Given the description of an element on the screen output the (x, y) to click on. 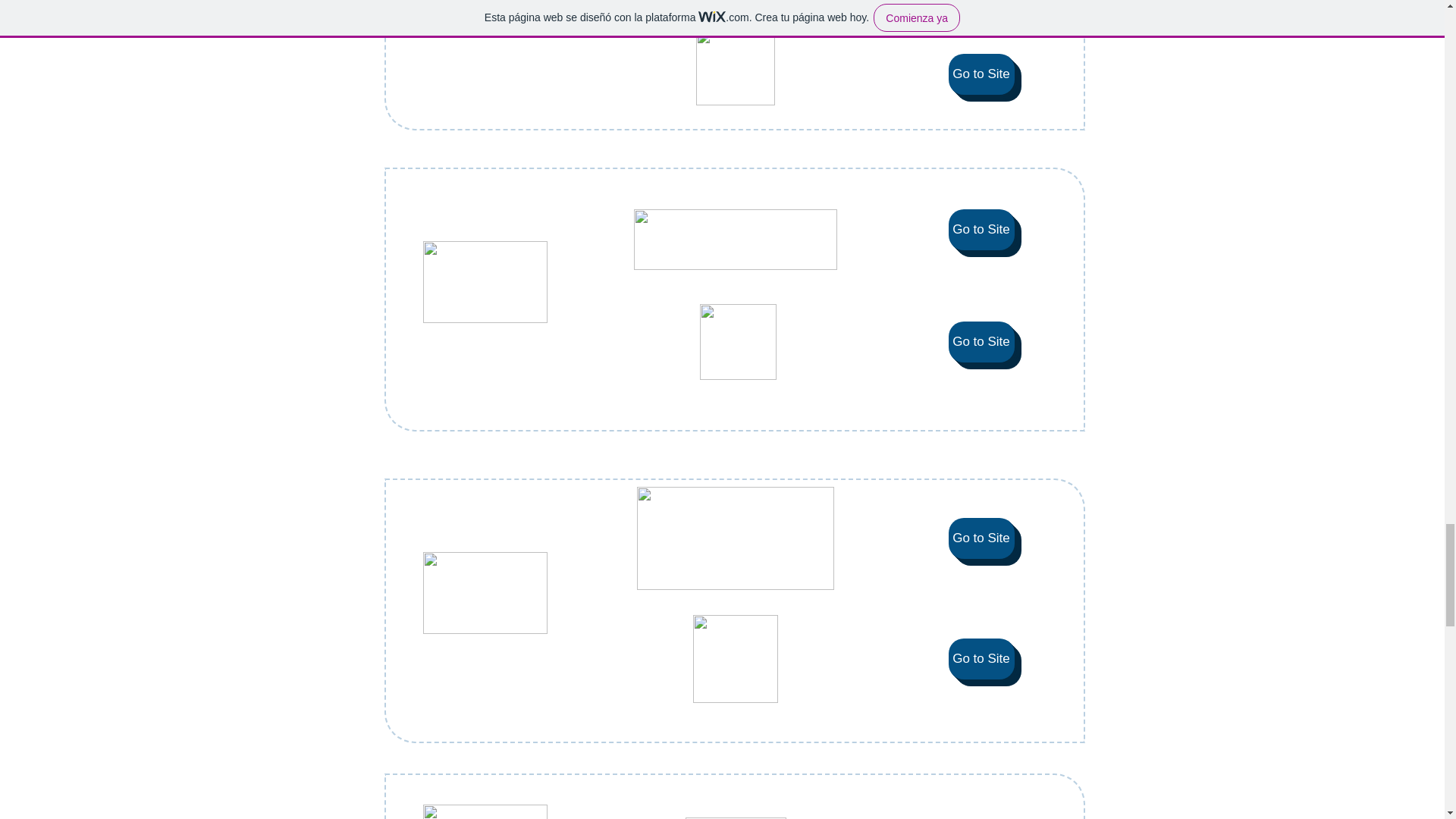
Go to Site (980, 74)
Go to Site (980, 658)
Go to Site (980, 537)
Go to Site (980, 229)
Go to Site (980, 341)
